Given the description of an element on the screen output the (x, y) to click on. 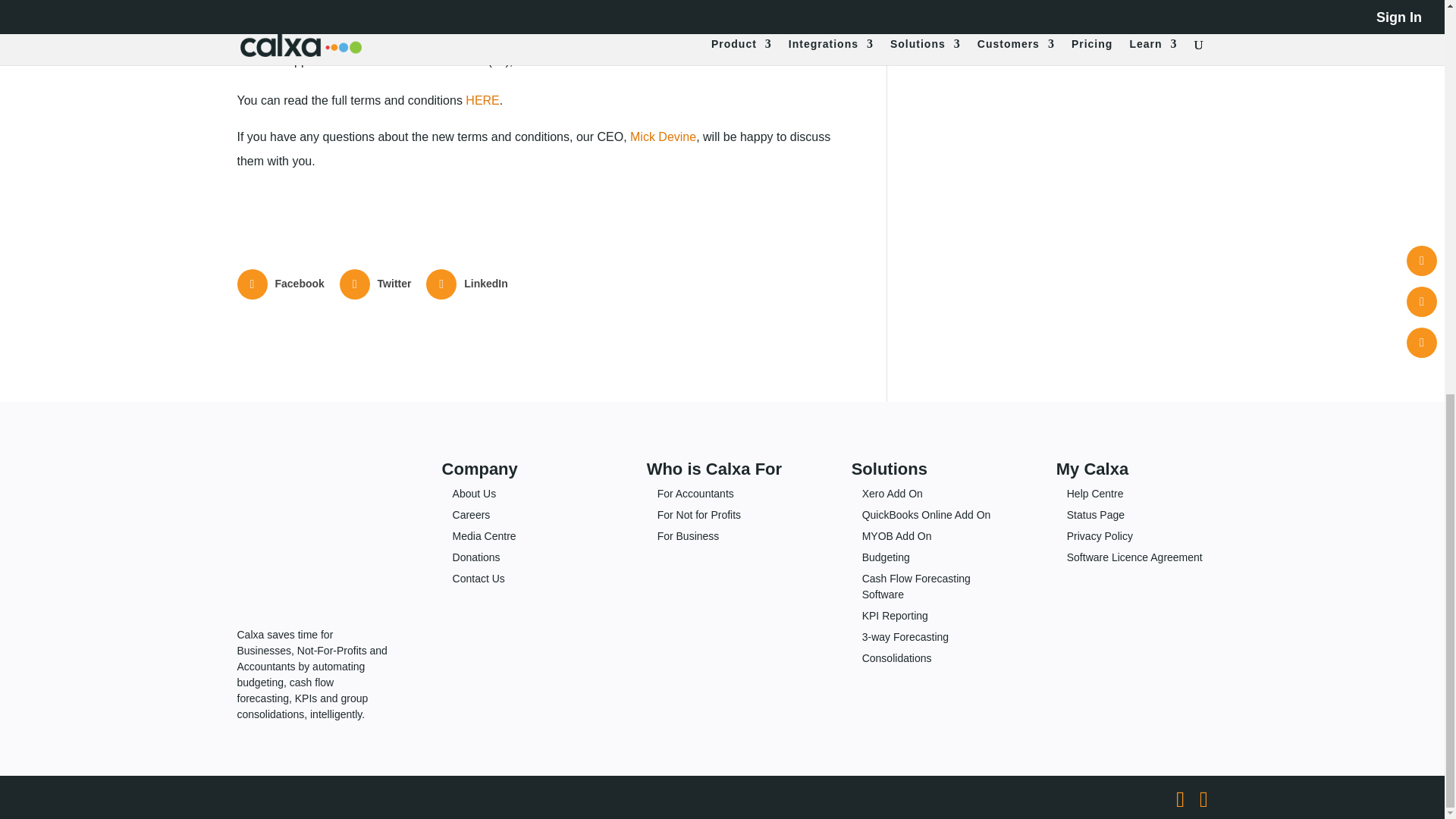
Calxa End User Licence Agreement (482, 100)
LinkedIn (468, 284)
Mick Devine (662, 136)
HERE (482, 100)
Facebook (280, 284)
Twitter (376, 284)
